Given the description of an element on the screen output the (x, y) to click on. 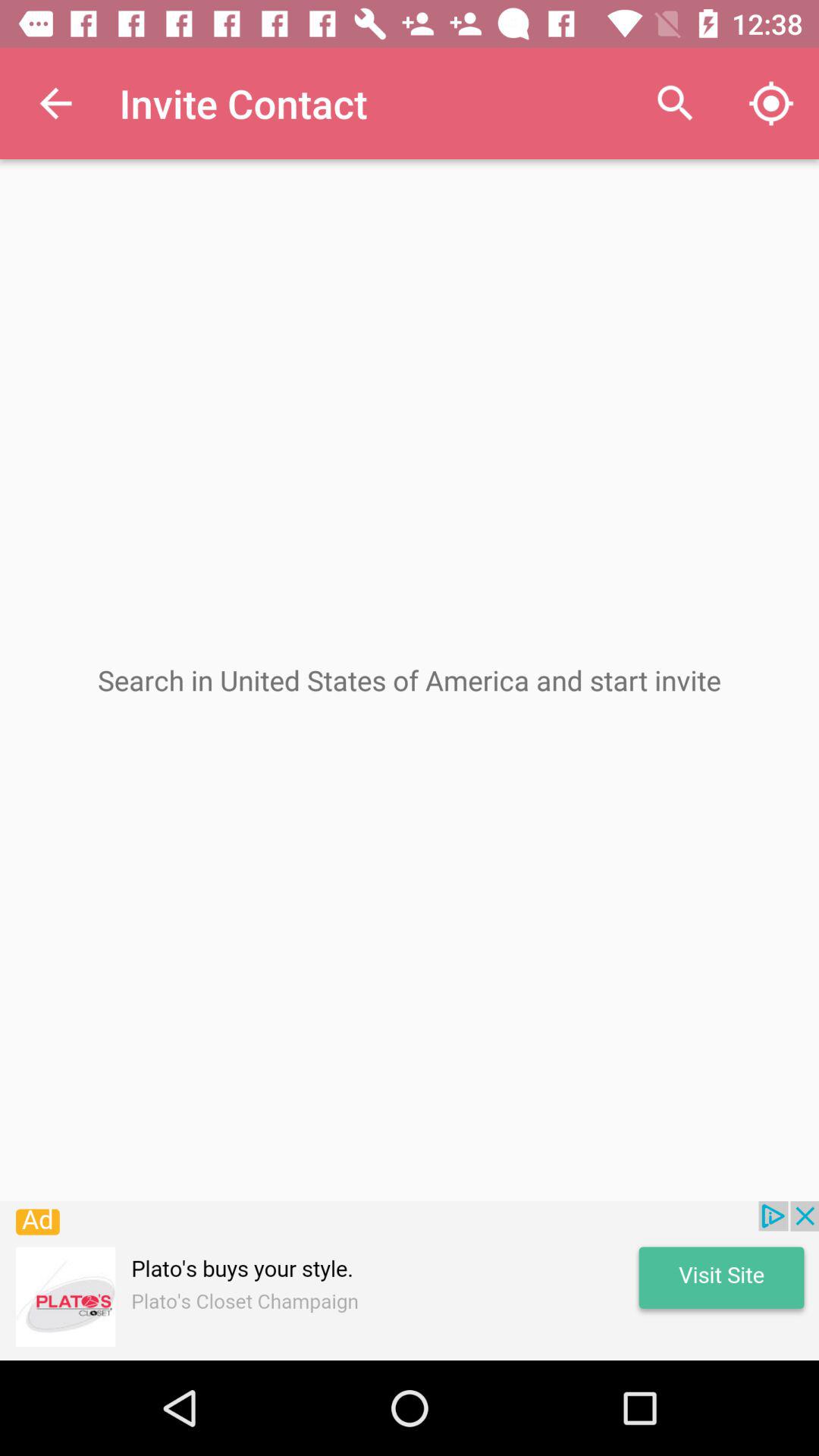
advertisement from outside source (409, 1280)
